Given the description of an element on the screen output the (x, y) to click on. 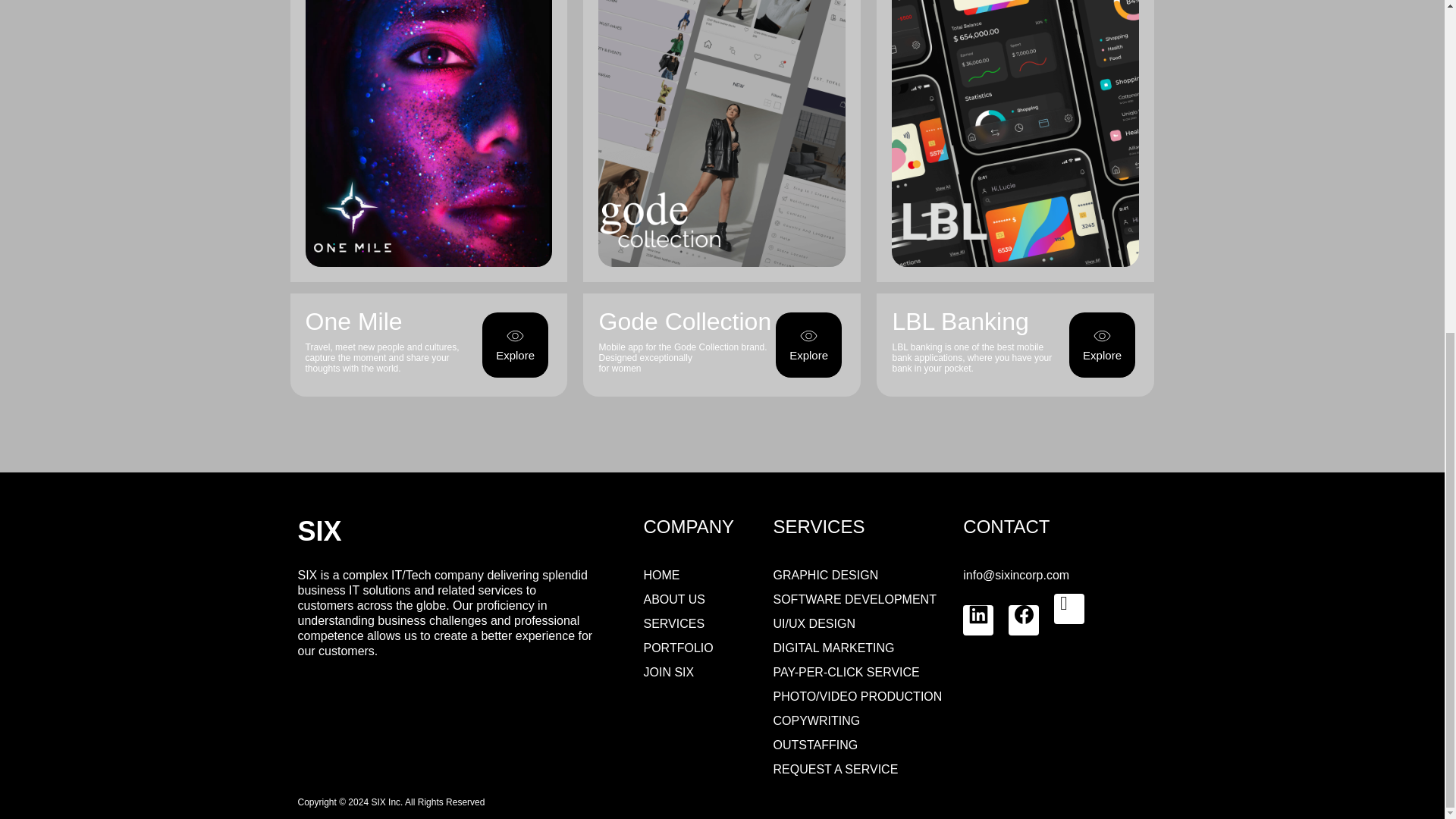
REQUEST A SERVICE (835, 768)
GRAPHIC DESIGN (826, 574)
OUTSTAFFING (816, 744)
COPYWRITING (816, 720)
SERVICES (673, 623)
ABOUT US (673, 599)
PAY-PER-CLICK SERVICE (846, 671)
JOIN SIX (668, 671)
HOME (661, 574)
DIGITAL MARKETING (834, 647)
SOFTWARE DEVELOPMENT (854, 599)
PORTFOLIO (678, 647)
